Given the description of an element on the screen output the (x, y) to click on. 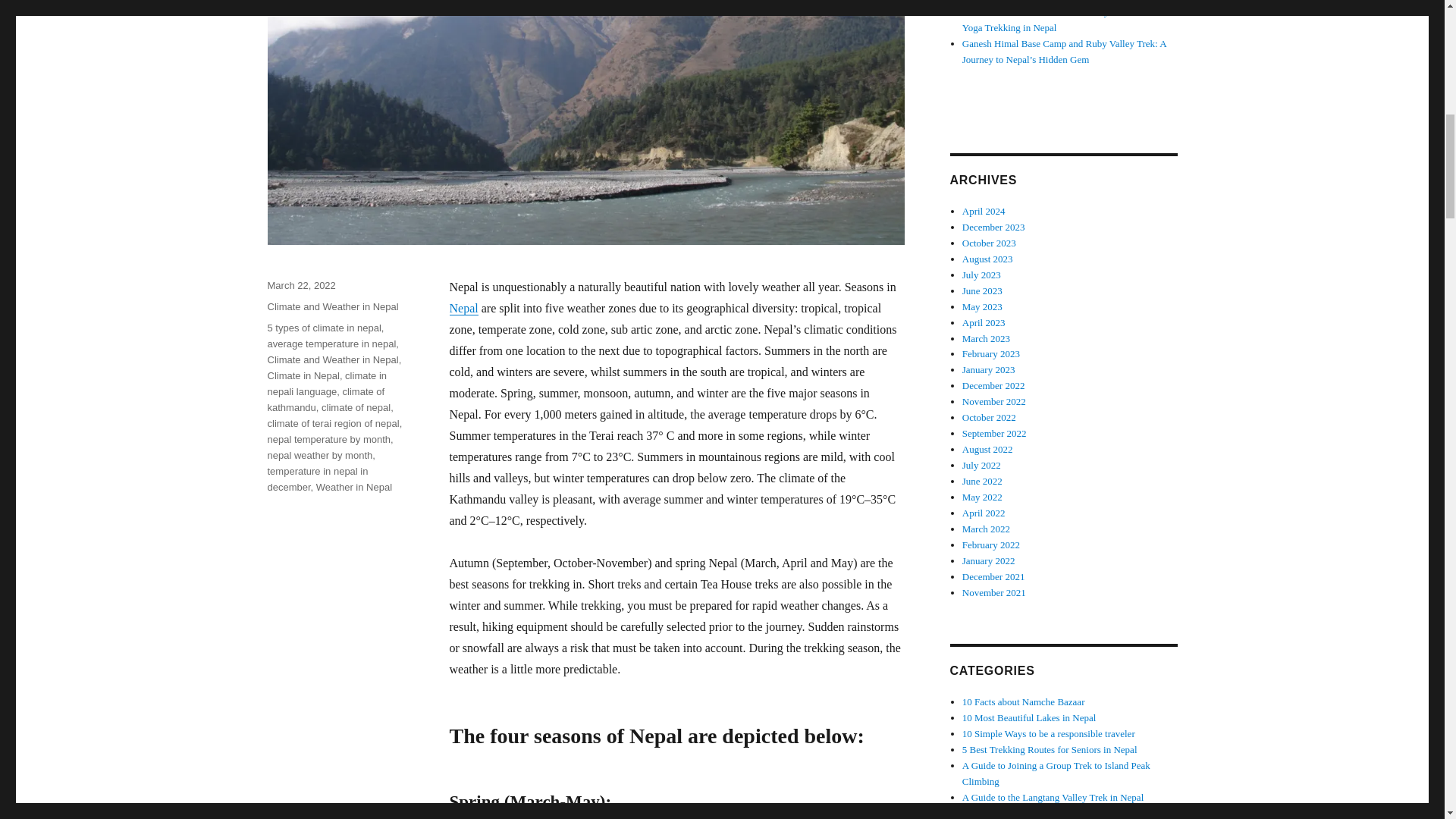
Climate and Weather in Nepal (331, 359)
average temperature in nepal (331, 343)
Weather in Nepal (353, 486)
climate of kathmandu (325, 399)
nepal weather by month (319, 455)
Climate and Weather in Nepal (331, 306)
nepal temperature by month (328, 439)
5 types of climate in nepal (323, 327)
climate of terai region of nepal (332, 423)
Nepal (462, 308)
Climate in Nepal (302, 375)
climate of nepal (355, 407)
March 22, 2022 (300, 285)
temperature in nepal in december (317, 479)
climate in nepali language (326, 383)
